Given the description of an element on the screen output the (x, y) to click on. 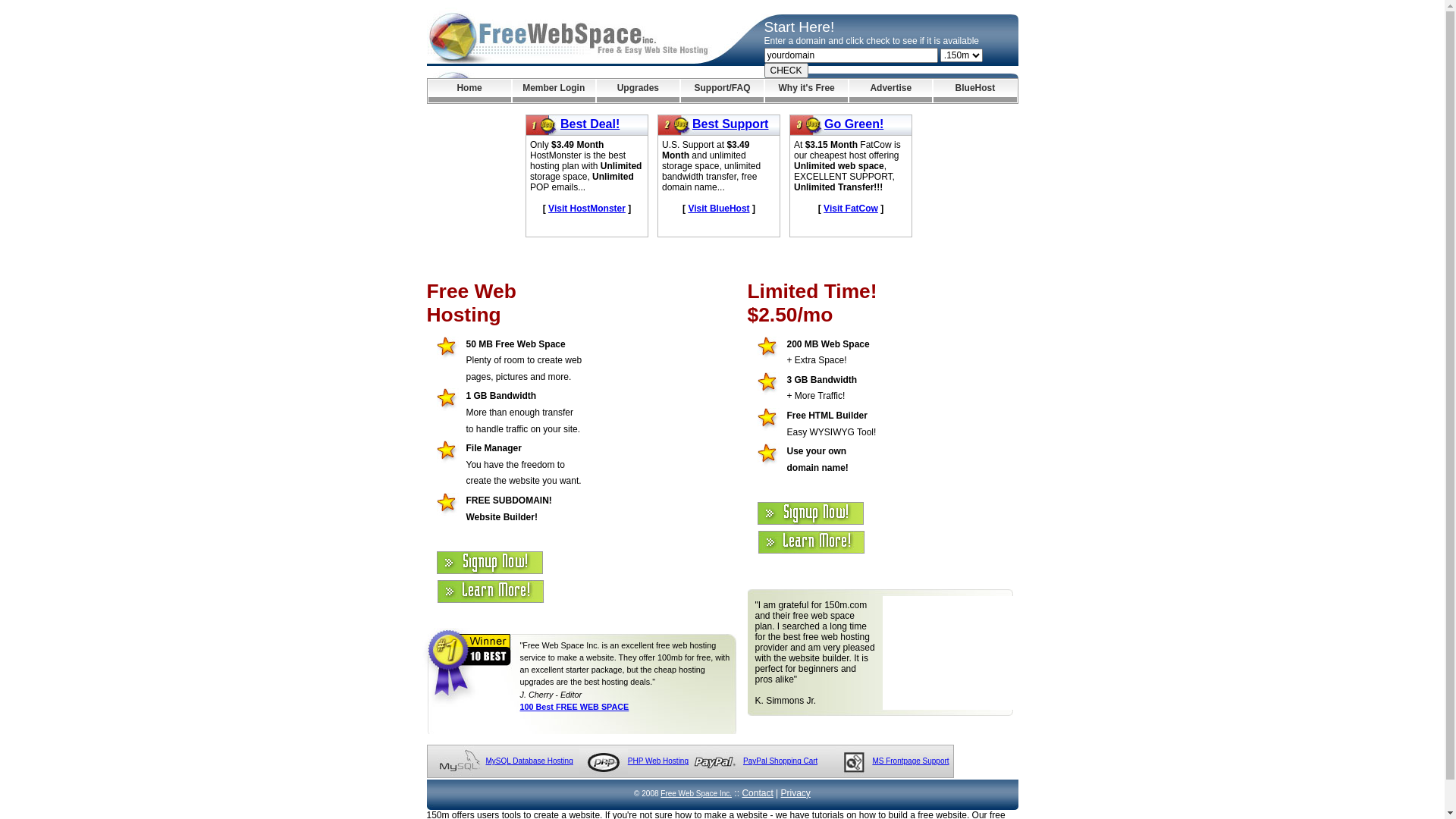
BlueHost Element type: text (974, 90)
Free Web Space Inc. Element type: text (695, 793)
MySQL Database Hosting Element type: text (528, 760)
Privacy Element type: text (795, 792)
Member Login Element type: text (553, 90)
Why it's Free Element type: text (806, 90)
PayPal Shopping Cart Element type: text (780, 760)
Home Element type: text (468, 90)
Contact Element type: text (756, 792)
100 Best FREE WEB SPACE Element type: text (574, 706)
MS Frontpage Support Element type: text (910, 760)
Advertise Element type: text (890, 90)
Upgrades Element type: text (637, 90)
CHECK Element type: text (786, 70)
PHP Web Hosting Element type: text (657, 760)
Support/FAQ Element type: text (721, 90)
